Given the description of an element on the screen output the (x, y) to click on. 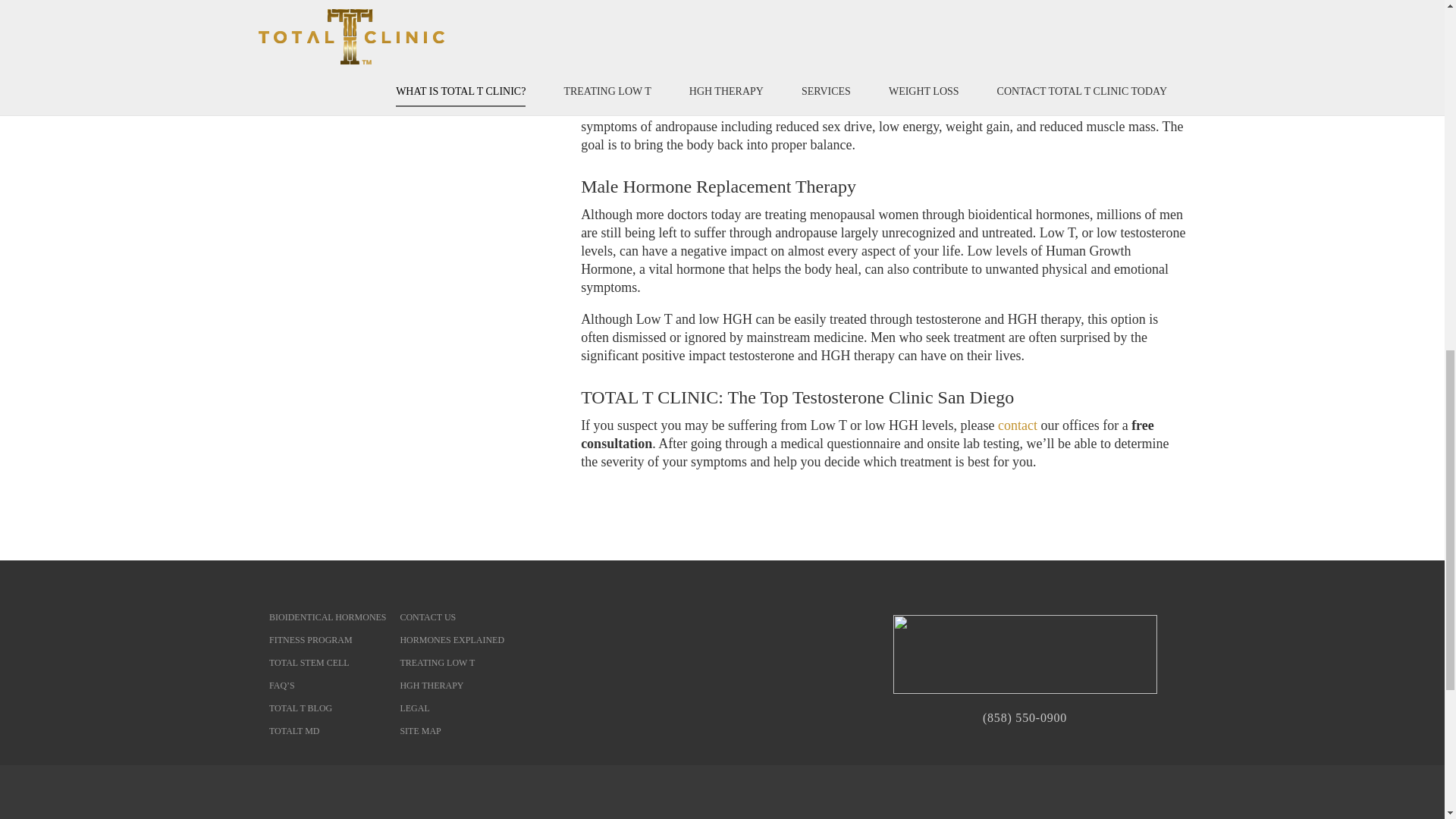
Our Team (379, 22)
LEGAL (413, 707)
FITNESS PROGRAM (310, 639)
contact (1016, 425)
SITE MAP (419, 730)
TOTAL T BLOG (300, 707)
HORMONES EXPLAINED (450, 639)
HGH THERAPY (430, 685)
TOTAL STEM CELL (309, 662)
TOTALT MD (294, 730)
BIOIDENTICAL HORMONES (328, 616)
TREATING LOW T (436, 662)
CONTACT US (426, 616)
